Given the description of an element on the screen output the (x, y) to click on. 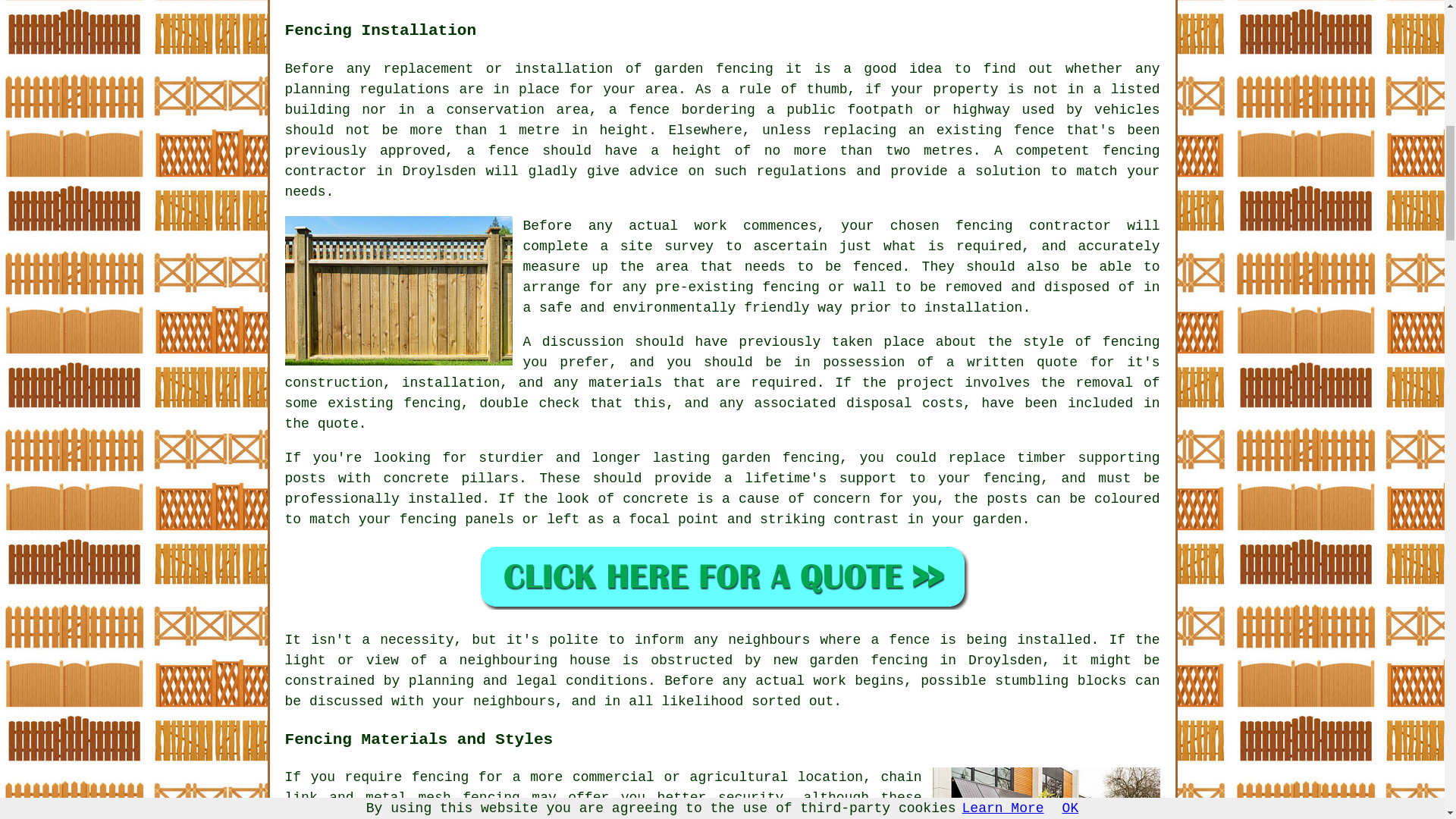
Garden Fencing Near Droylsden Greater Manchester (1046, 793)
Garden Fencing Quotes in Droylsden Greater Manchester (722, 575)
fencing contractor (1032, 225)
